Given the description of an element on the screen output the (x, y) to click on. 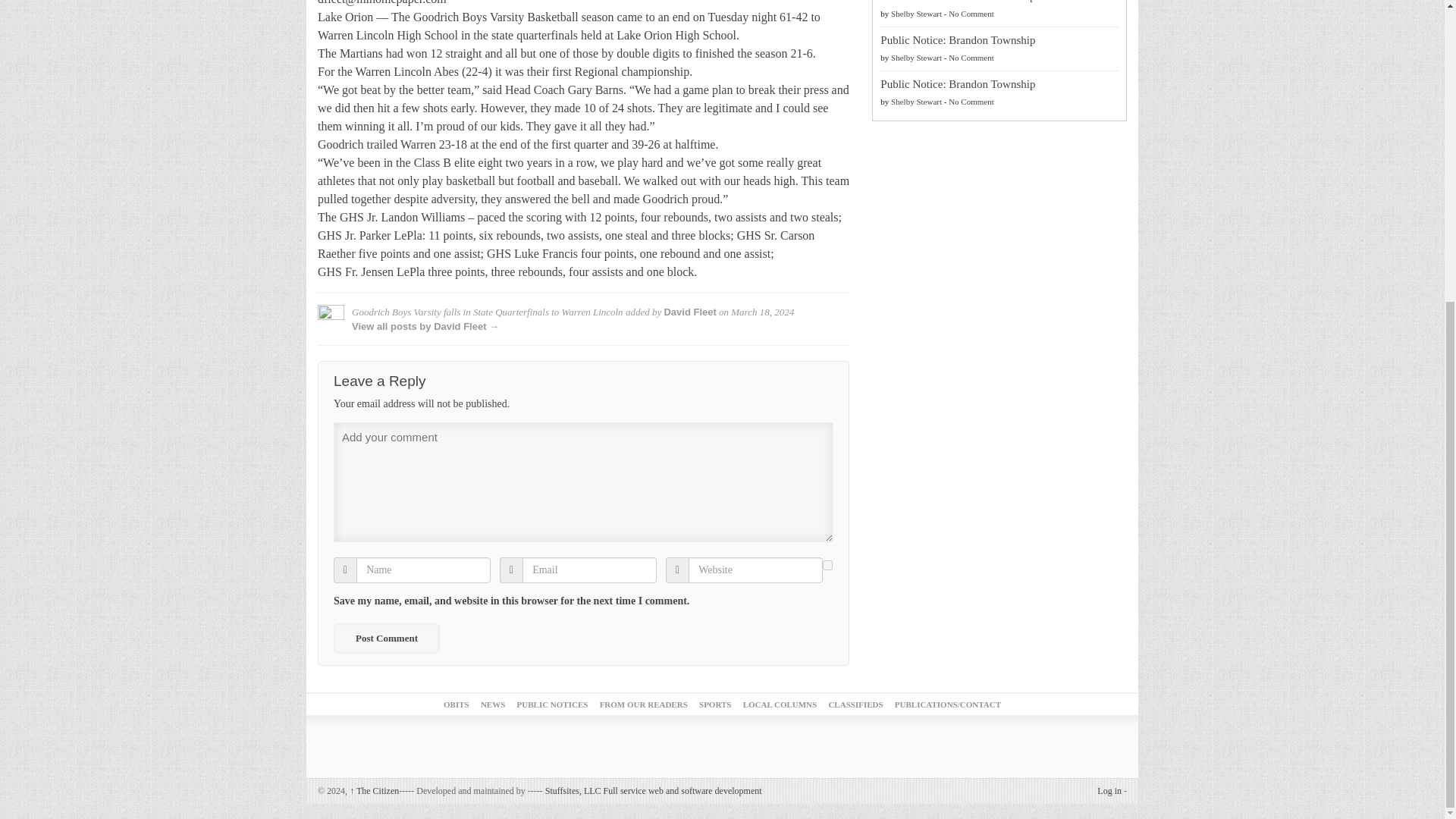
David Fleet (689, 311)
Post Comment (386, 638)
yes (827, 565)
